Given the description of an element on the screen output the (x, y) to click on. 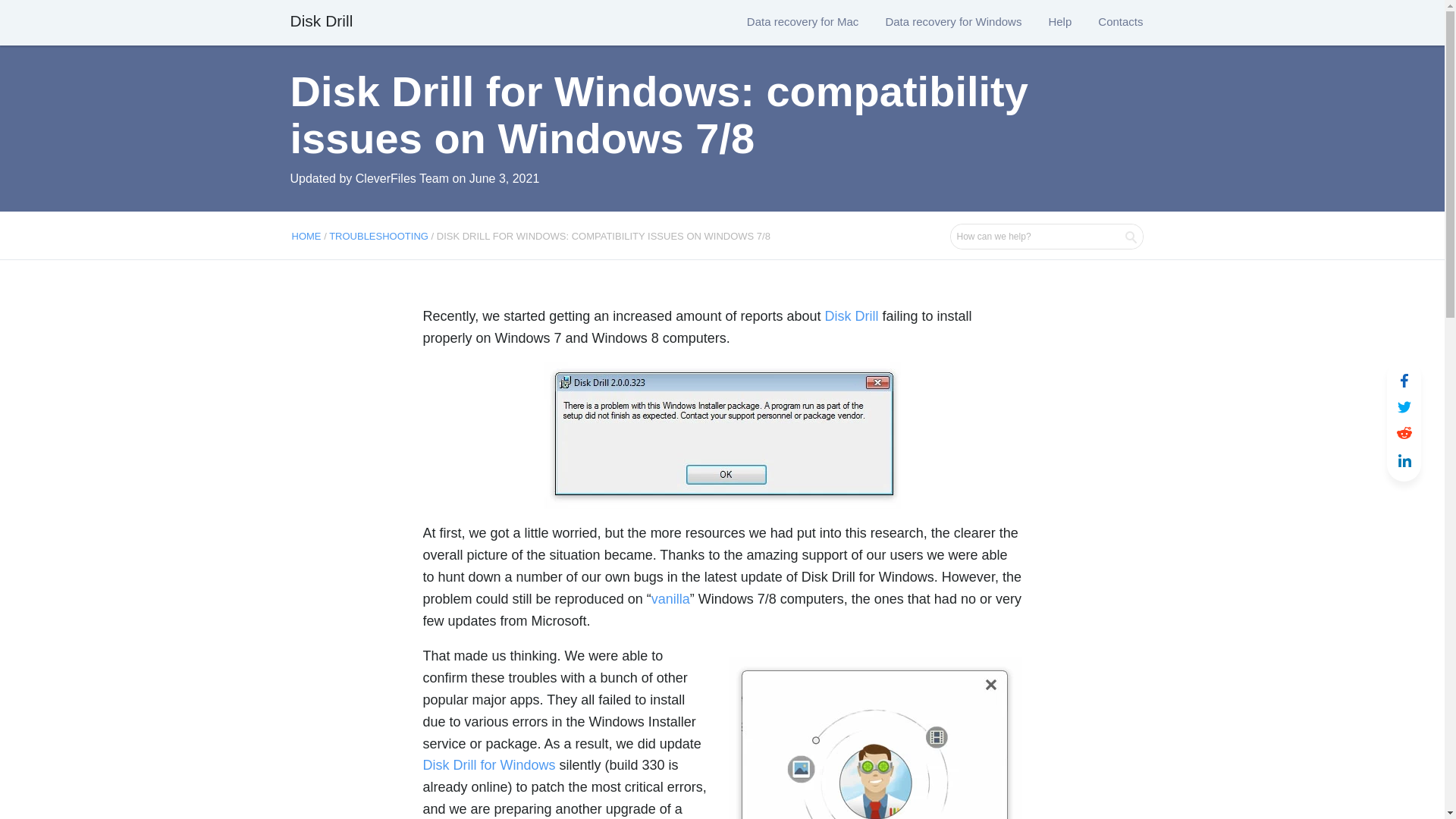
Contacts (1119, 20)
Help (1059, 20)
Data recovery for Windows (953, 20)
vanilla (670, 598)
Disk Drill (320, 21)
Contacts (1119, 20)
TROUBLESHOOTING (378, 235)
Data recovery for Mac (802, 20)
Disk Drill for Windows (489, 765)
Data recovery for Windows (953, 20)
